Given the description of an element on the screen output the (x, y) to click on. 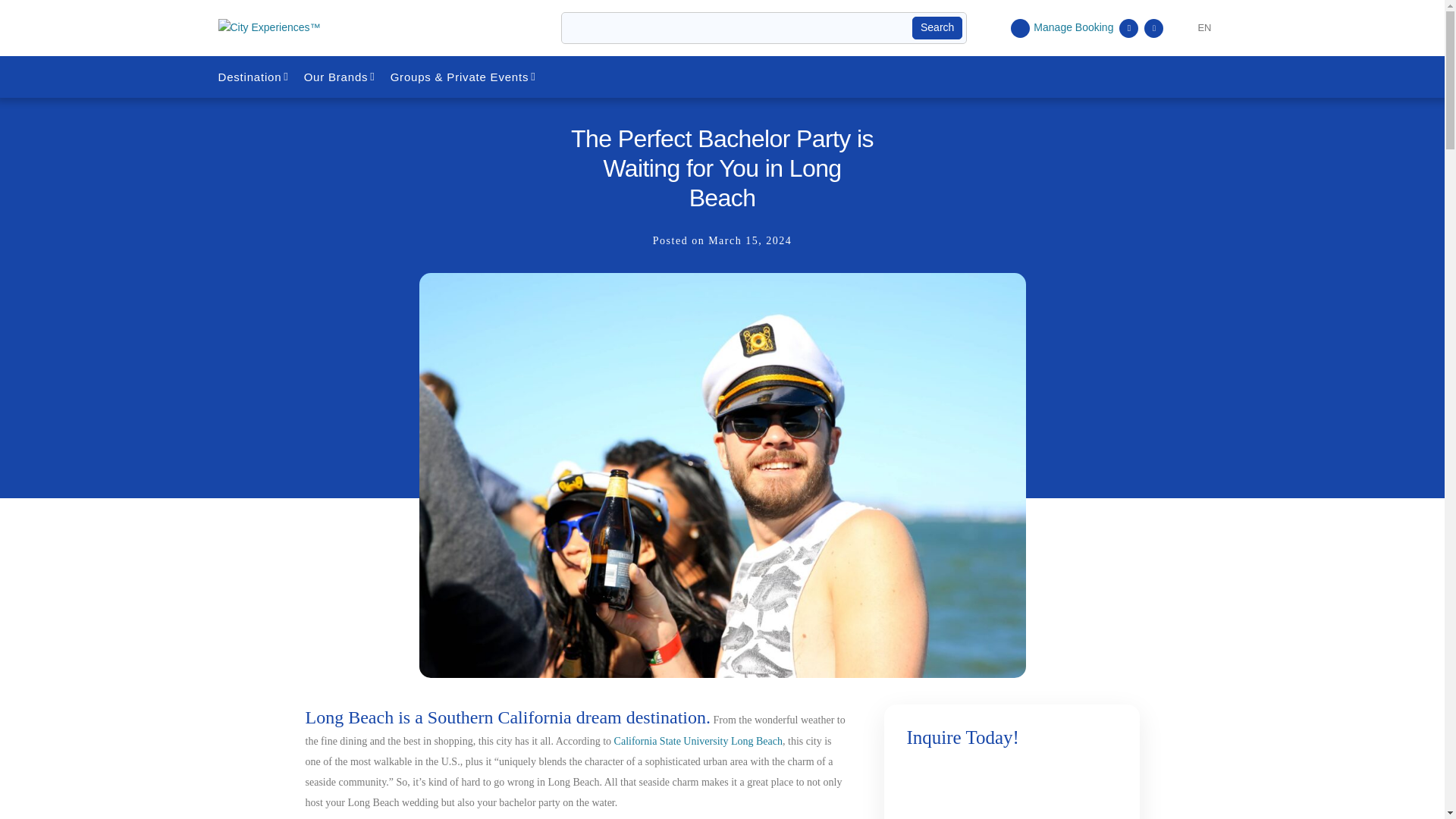
Destination (255, 76)
Manage Booking (1061, 27)
Search (937, 27)
